Given the description of an element on the screen output the (x, y) to click on. 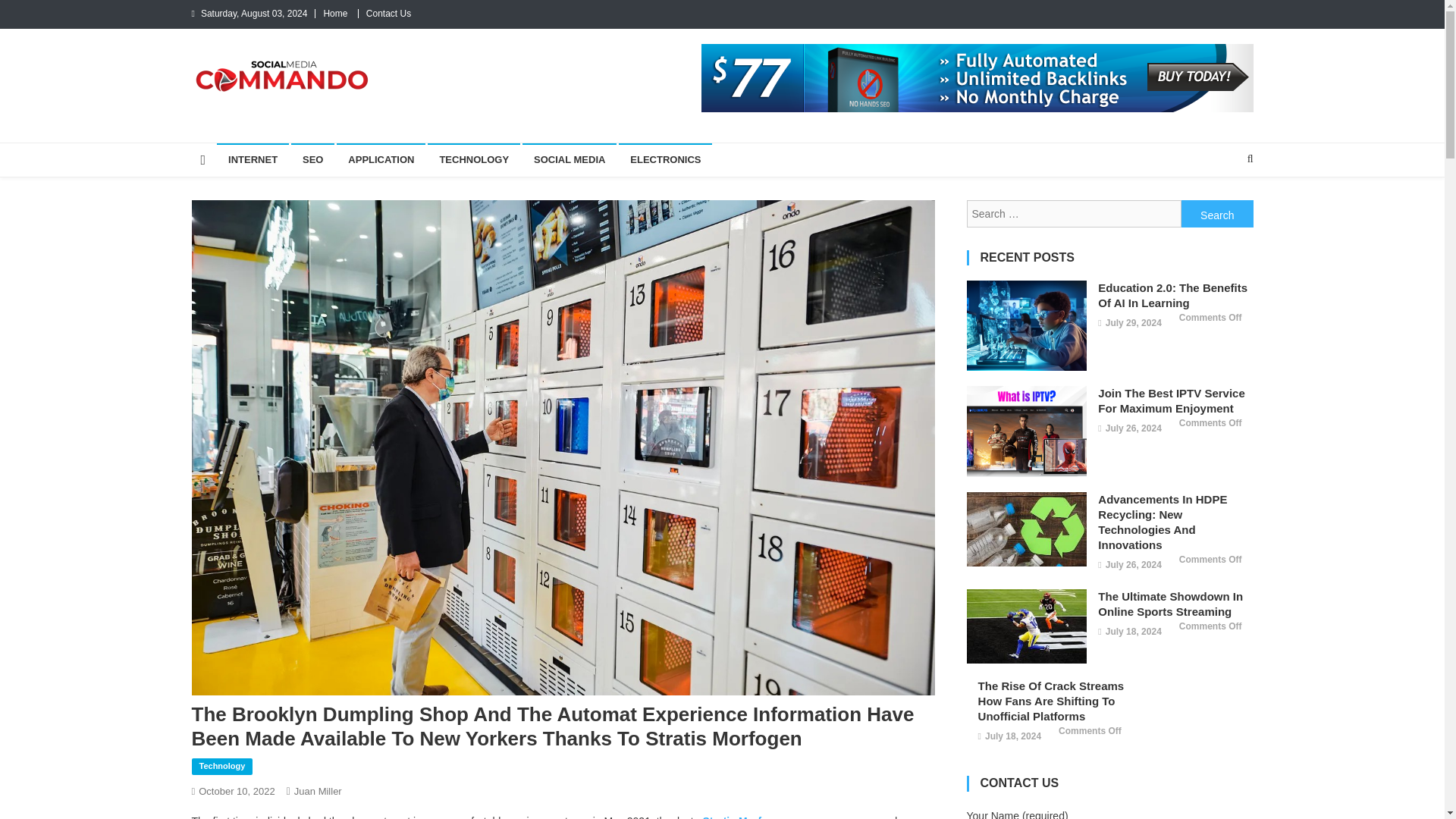
Search (1216, 213)
July 29, 2024 (1133, 323)
Juan Miller (318, 790)
Stratis Morfogen (743, 816)
Social Media Commando (334, 108)
Search (1216, 213)
October 10, 2022 (236, 790)
SEO (312, 159)
INTERNET (252, 159)
ELECTRONICS (664, 159)
July 26, 2024 (1133, 428)
Contact Us (388, 13)
Search (1216, 213)
SOCIAL MEDIA (568, 159)
Technology (220, 766)
